Given the description of an element on the screen output the (x, y) to click on. 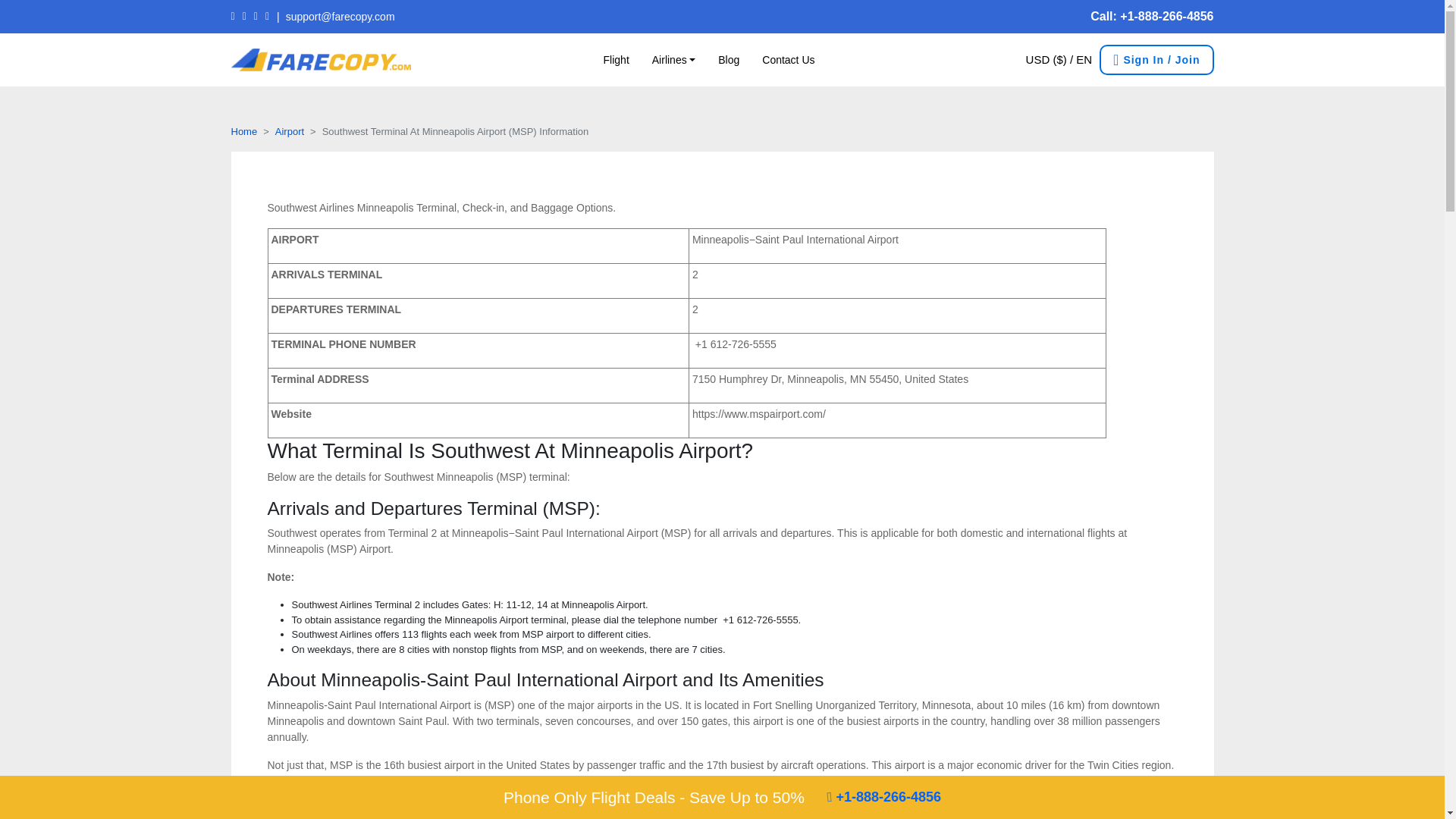
Airlines (673, 18)
